Given the description of an element on the screen output the (x, y) to click on. 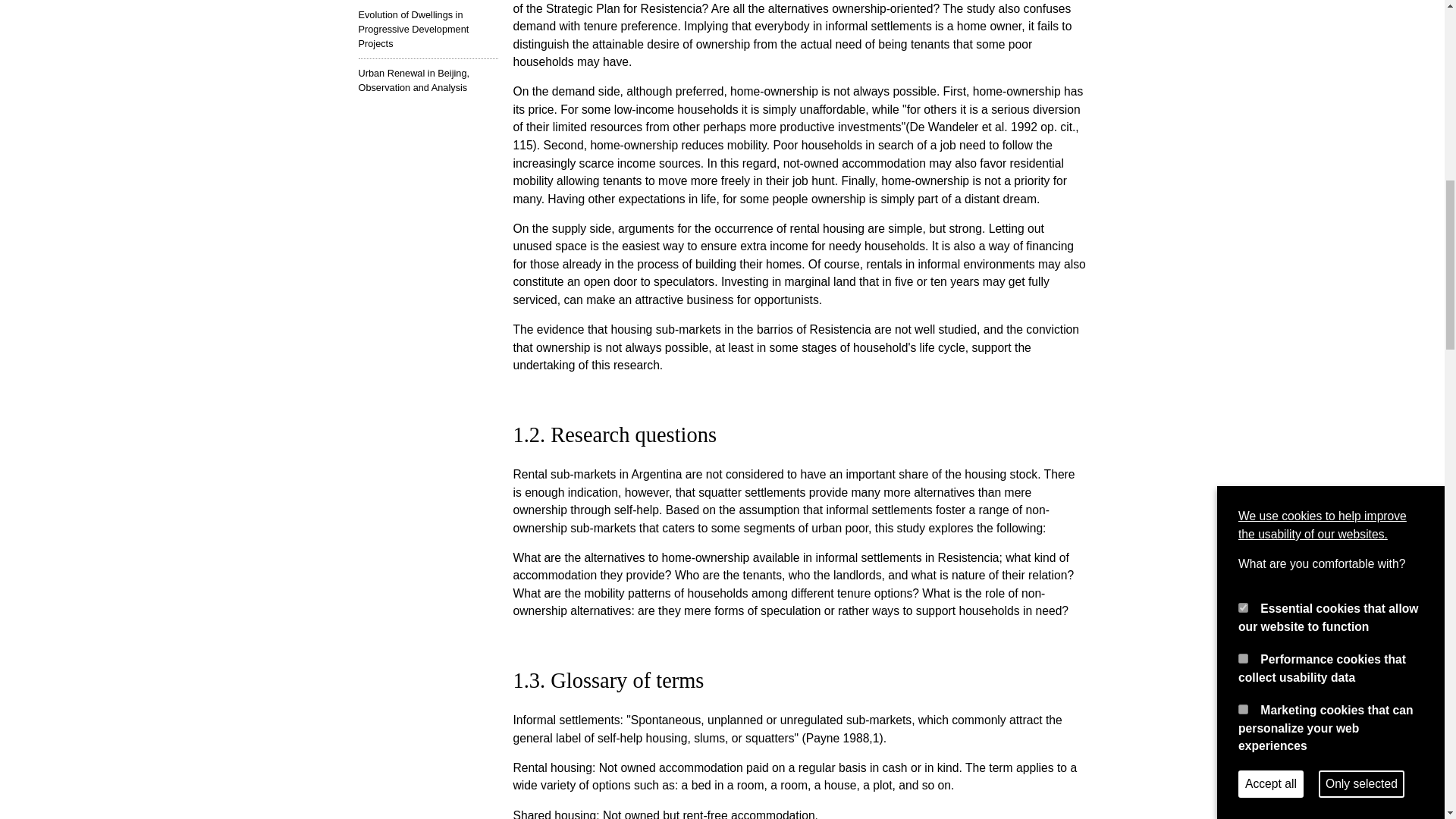
Urban Renewal in Beijing, Observation and Analysis (427, 80)
Evolution of Dwellings in Progressive Development Projects (427, 28)
